Given the description of an element on the screen output the (x, y) to click on. 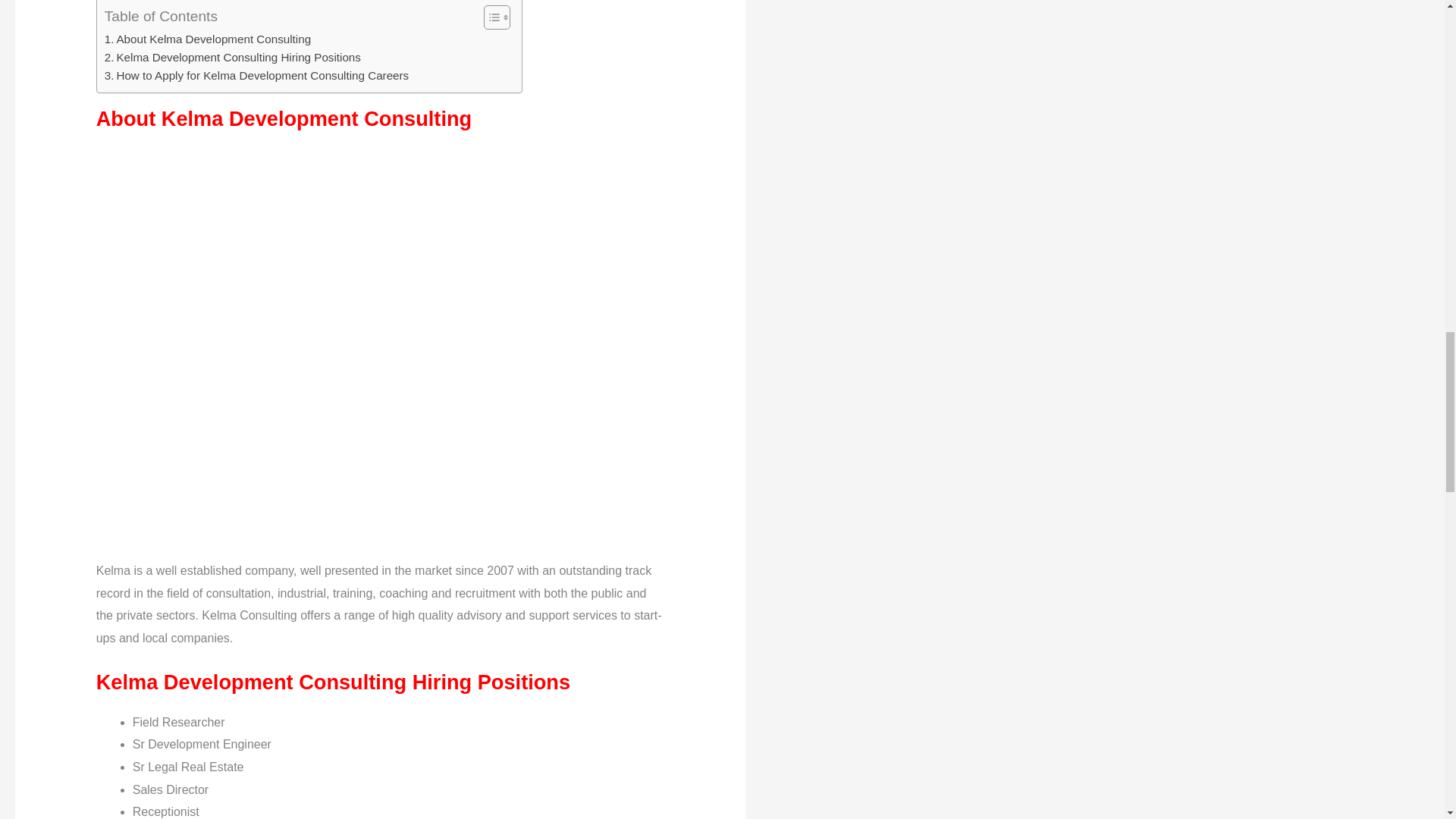
About Kelma Development Consulting (207, 39)
How to Apply for Kelma Development Consulting Careers (256, 75)
Kelma Development Consulting Hiring Positions (232, 57)
